Given the description of an element on the screen output the (x, y) to click on. 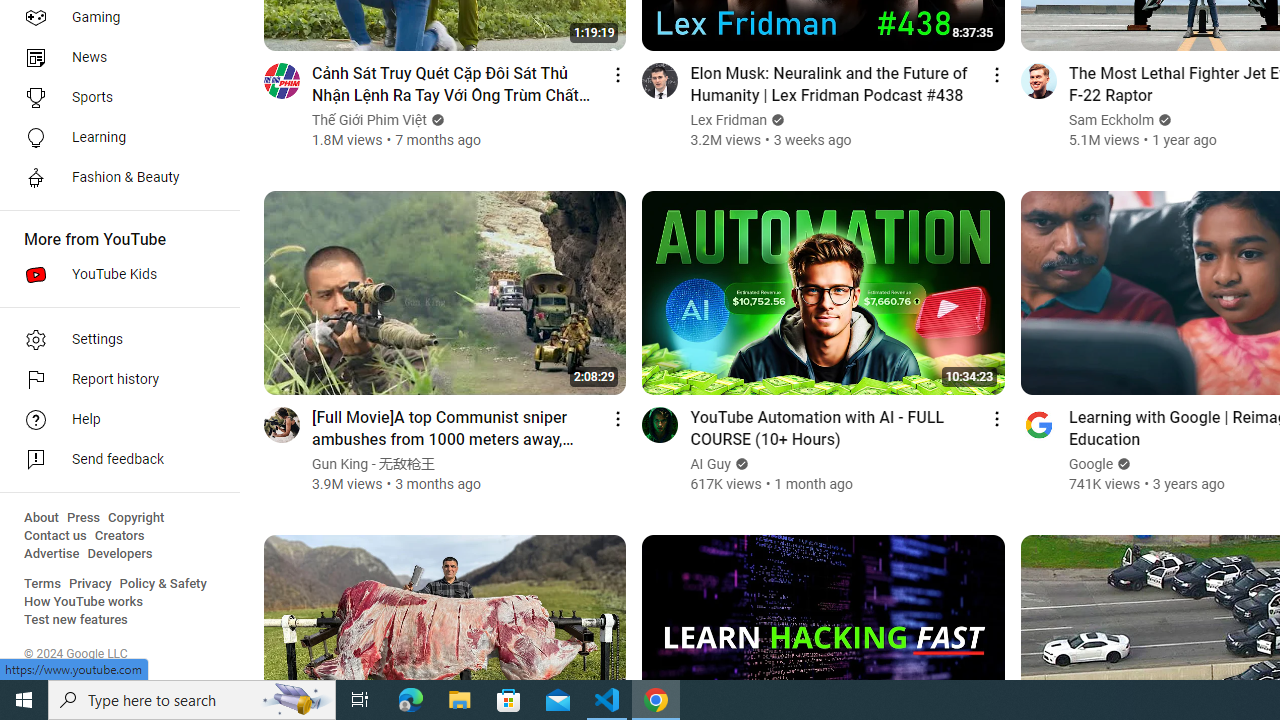
Fashion & Beauty (113, 177)
Advertise (51, 554)
Learning (113, 137)
Copyright (136, 518)
Developers (120, 554)
Report history (113, 380)
Lex Fridman (729, 120)
